Given the description of an element on the screen output the (x, y) to click on. 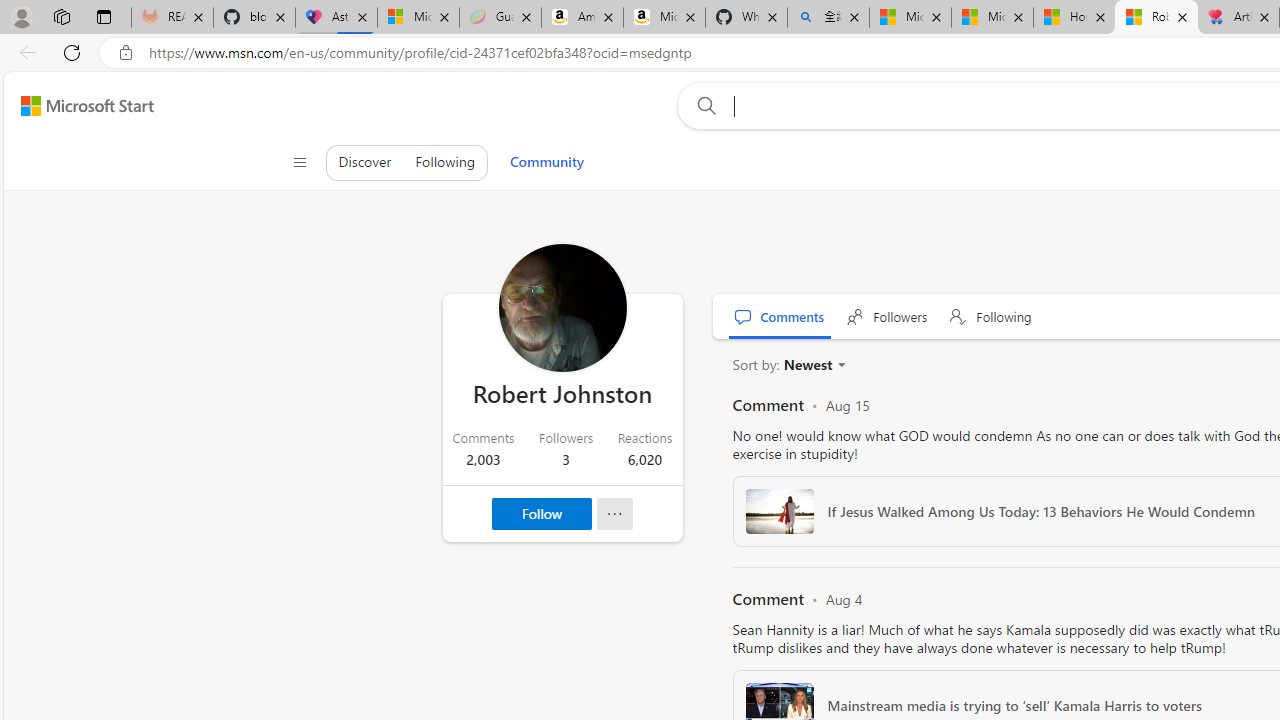
Class: control icon-only (299, 162)
Profile Picture (562, 308)
Follow (541, 513)
